Given the description of an element on the screen output the (x, y) to click on. 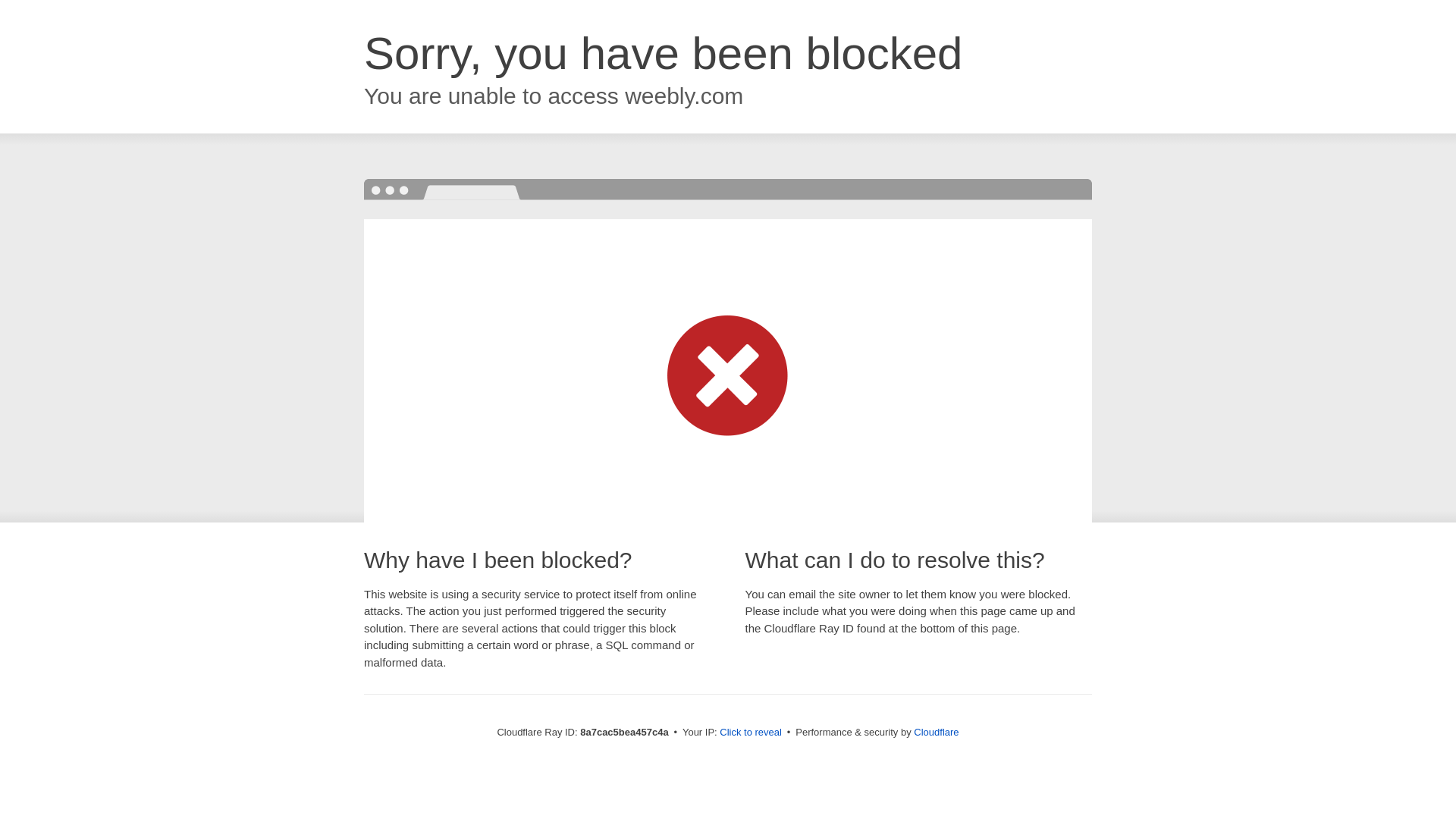
Click to reveal (750, 732)
Cloudflare (936, 731)
